Given the description of an element on the screen output the (x, y) to click on. 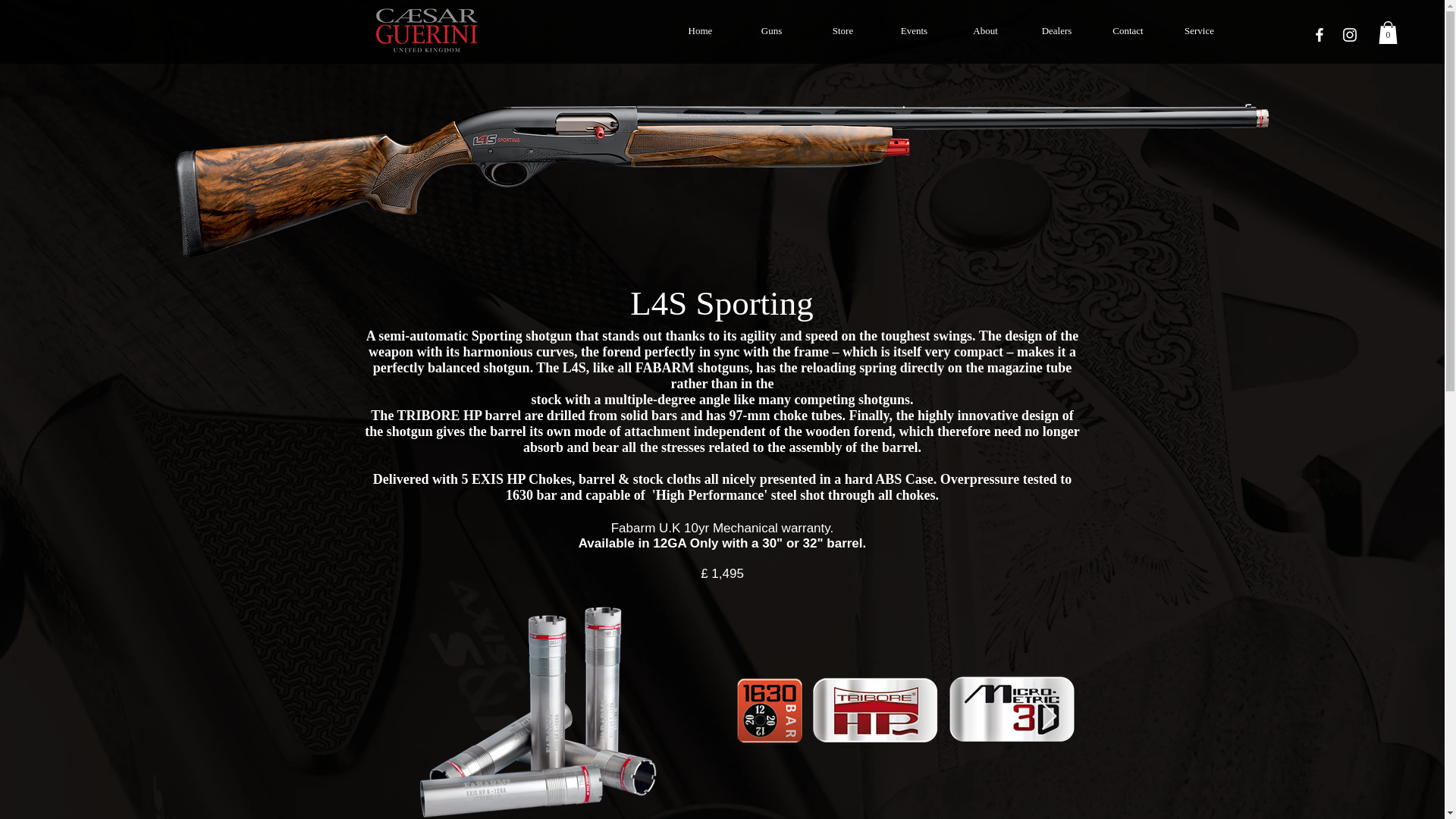
Events (913, 31)
Home (699, 31)
Store (841, 31)
Dealers (1056, 31)
Service (1198, 31)
Contact (1127, 31)
About (984, 31)
